Given the description of an element on the screen output the (x, y) to click on. 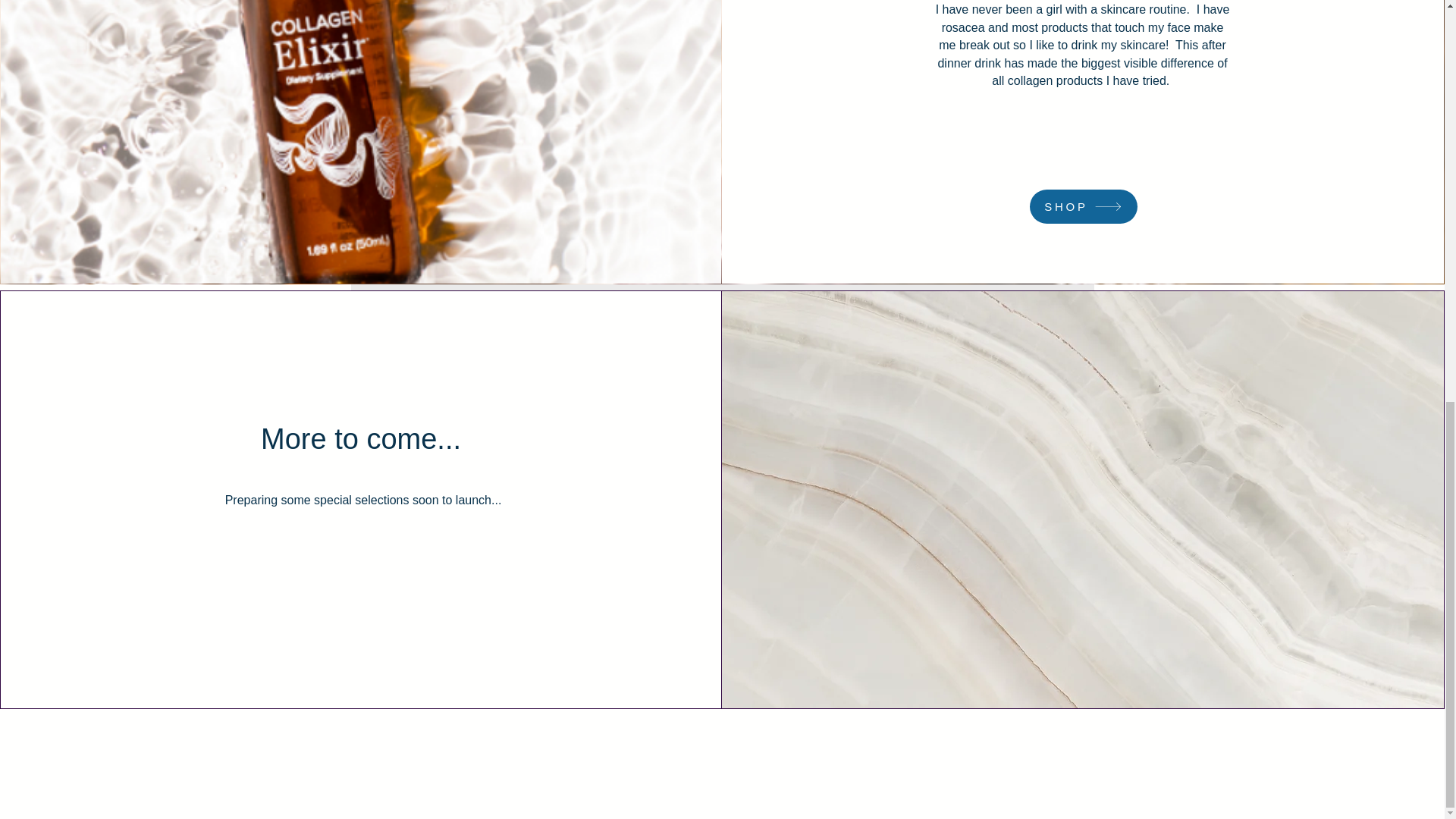
SHOP (1083, 206)
